Given the description of an element on the screen output the (x, y) to click on. 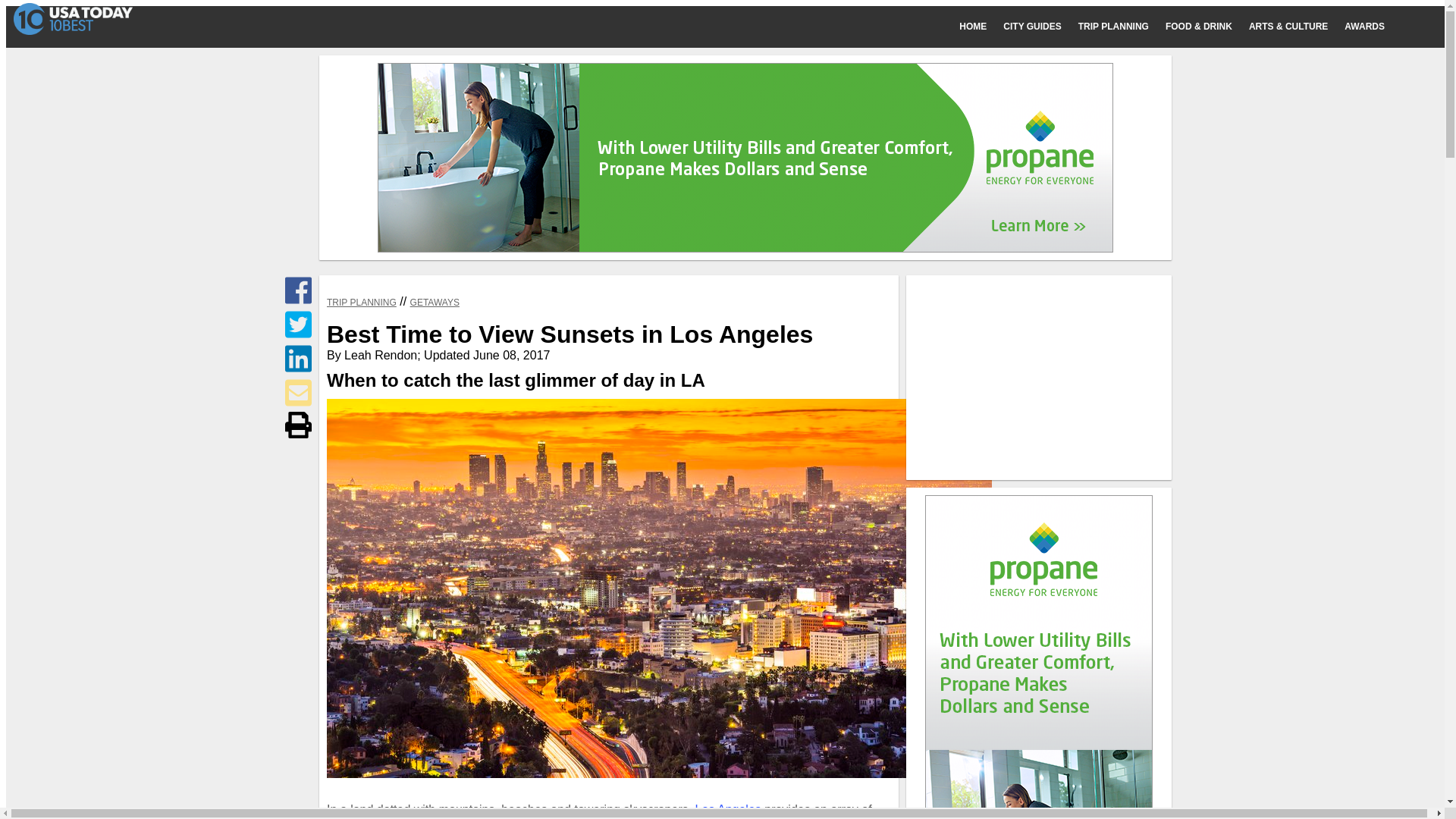
CITY GUIDES Element type: text (1039, 26)
GETAWAYS Element type: text (434, 302)
AWARDS Element type: text (1372, 26)
TRIP PLANNING Element type: text (361, 302)
Advertisement Element type: hover (1038, 377)
3rd party ad content Element type: hover (745, 157)
TRIP PLANNING Element type: text (1121, 26)
Los Angeles Element type: text (728, 809)
HOME Element type: text (980, 26)
FOOD & DRINK Element type: text (1207, 26)
ARTS & CULTURE Element type: text (1296, 26)
Best Time to View Sunsets in Los Angeles Element type: hover (658, 588)
